Given the description of an element on the screen output the (x, y) to click on. 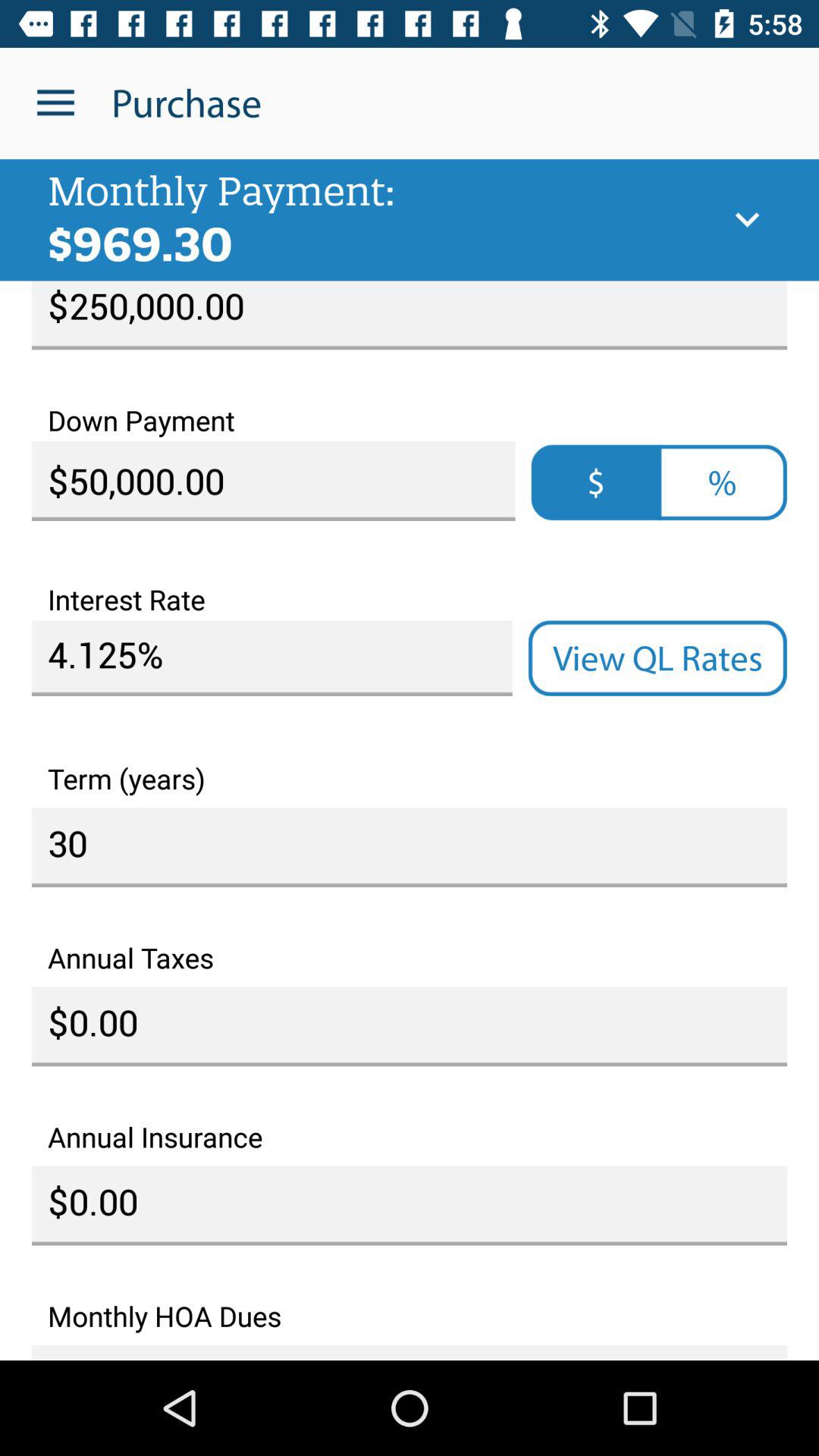
choose % (722, 482)
